Given the description of an element on the screen output the (x, y) to click on. 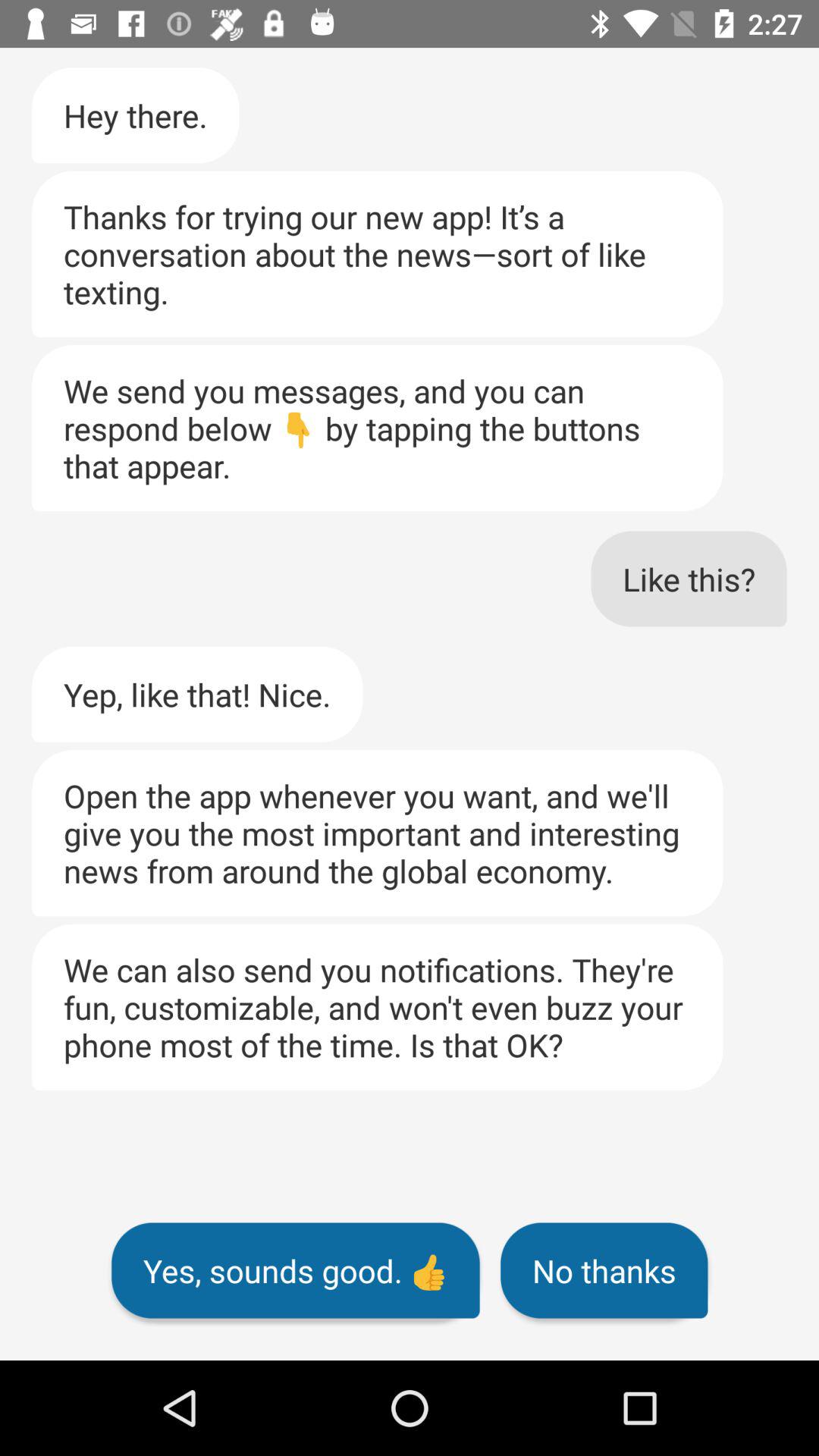
jump to no thanks item (604, 1270)
